Given the description of an element on the screen output the (x, y) to click on. 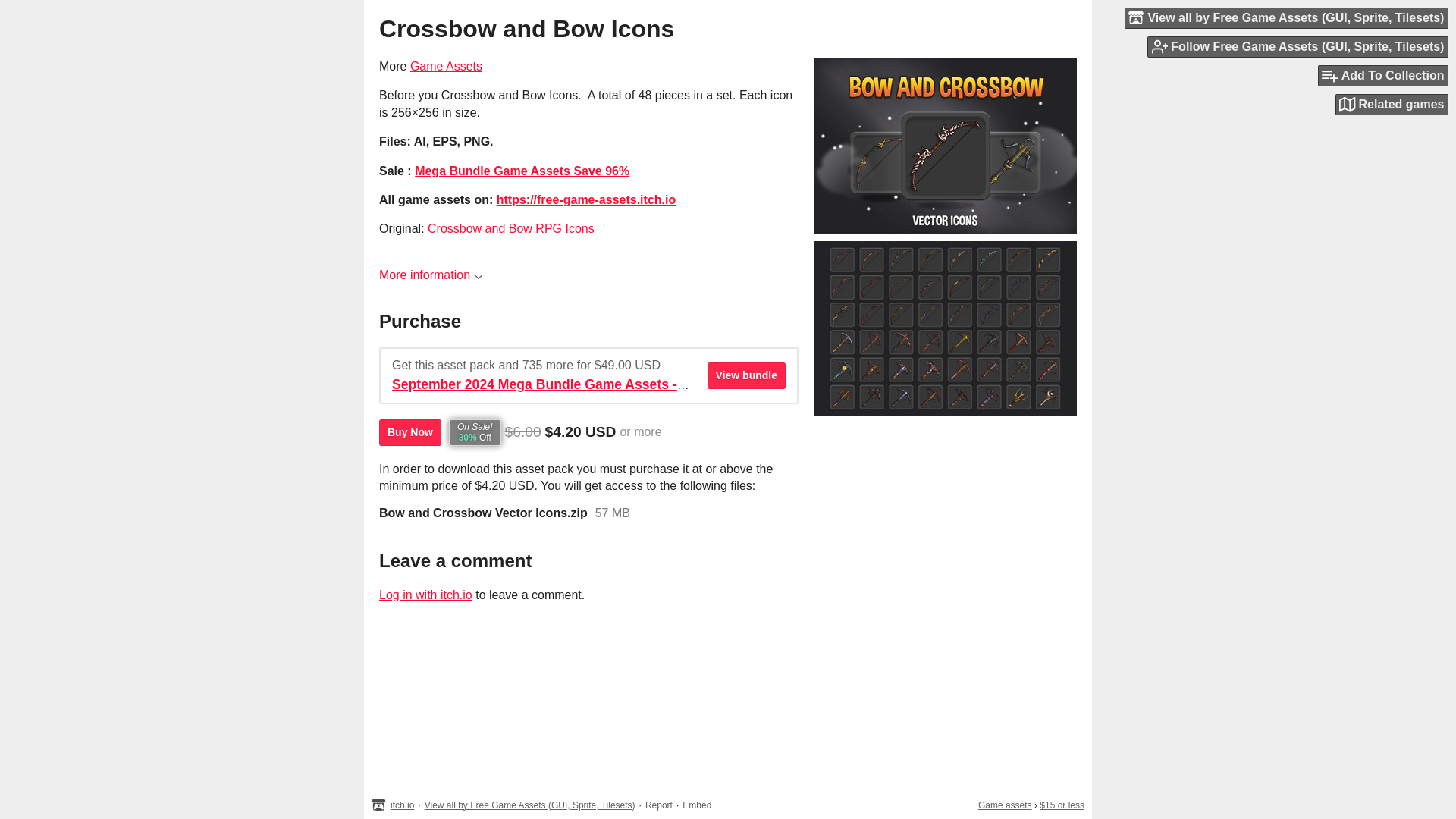
Related games (1391, 104)
View bundle (746, 375)
itch.io (401, 804)
Log in with itch.io (424, 594)
Report (658, 804)
Game assets (1005, 804)
More information (430, 274)
Bow and Crossbow Vector Icons.zip (483, 513)
Add To Collection (1382, 75)
Game Assets (445, 65)
